Given the description of an element on the screen output the (x, y) to click on. 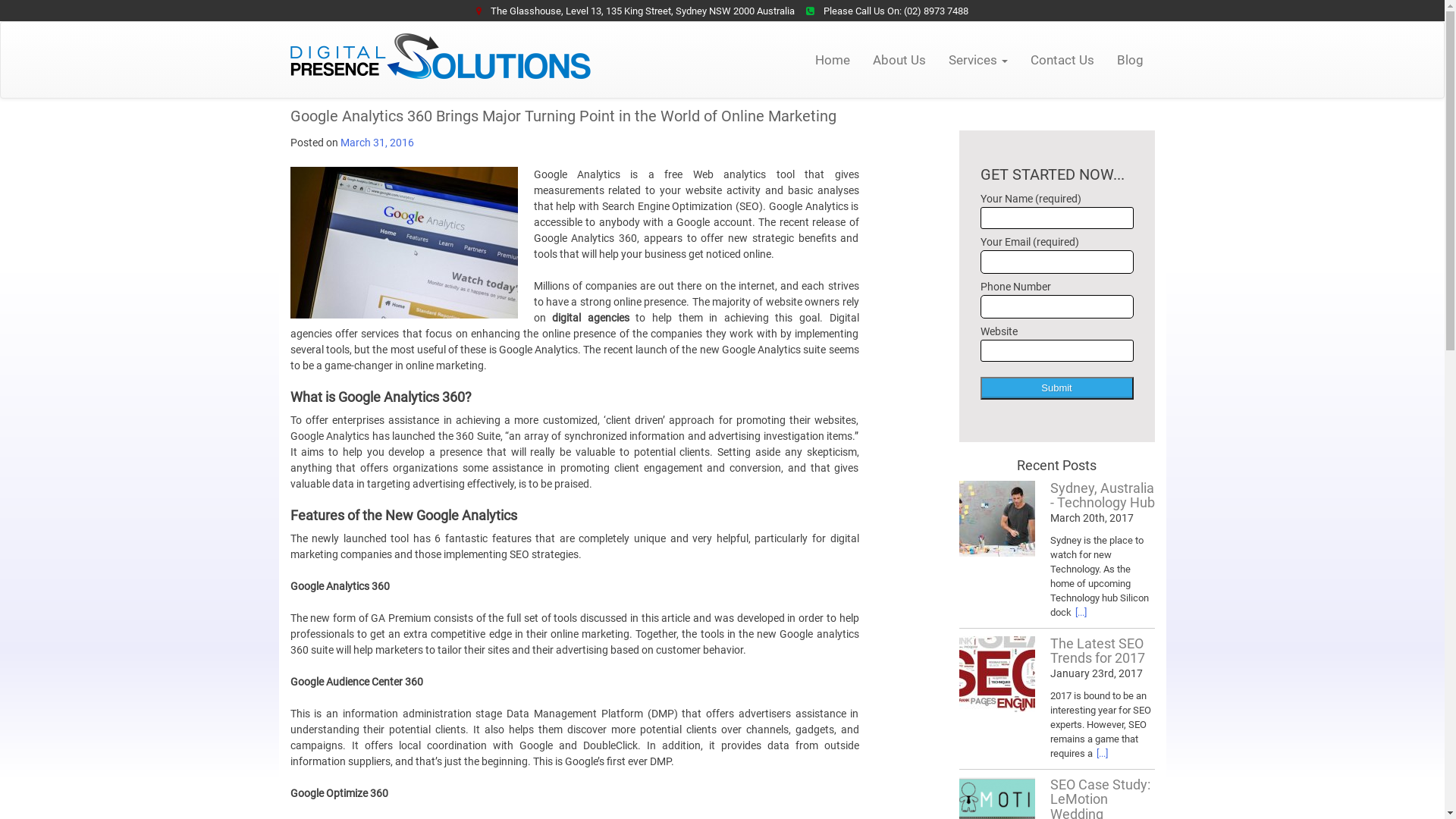
Sydney, Australia - Technology Hub Element type: text (1101, 495)
The Latest SEO Trends for 2017 Element type: text (1096, 650)
About Us Element type: text (899, 59)
Submit Element type: text (1055, 387)
Home Element type: text (832, 59)
[...] Element type: text (1101, 753)
Sydney, Australia - Technology Hub Element type: hover (996, 518)
The Latest SEO Trends for 2017 Element type: hover (996, 673)
[...] Element type: text (1080, 612)
March 31, 2016 Element type: text (376, 142)
Services Element type: text (978, 59)
Contact Us Element type: text (1062, 59)
Blog Element type: text (1129, 59)
